Given the description of an element on the screen output the (x, y) to click on. 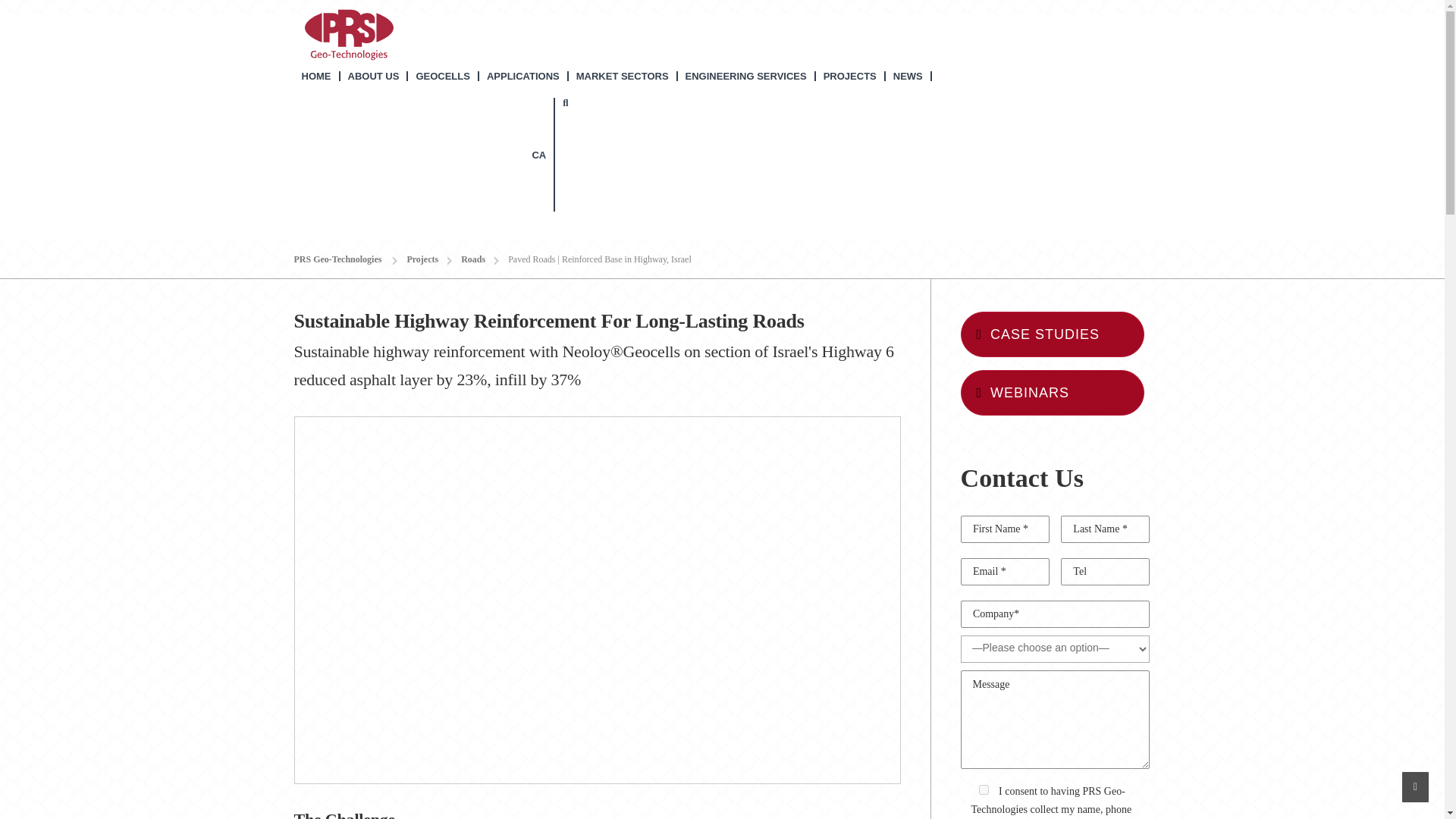
APPLICATIONS (524, 76)
PRS Geo-Technologies  (349, 33)
ABOUT US (373, 76)
Go to PRS Geo-Technologies . (345, 258)
CA (425, 154)
HOME (317, 76)
GEOCELLS (443, 76)
